Given the description of an element on the screen output the (x, y) to click on. 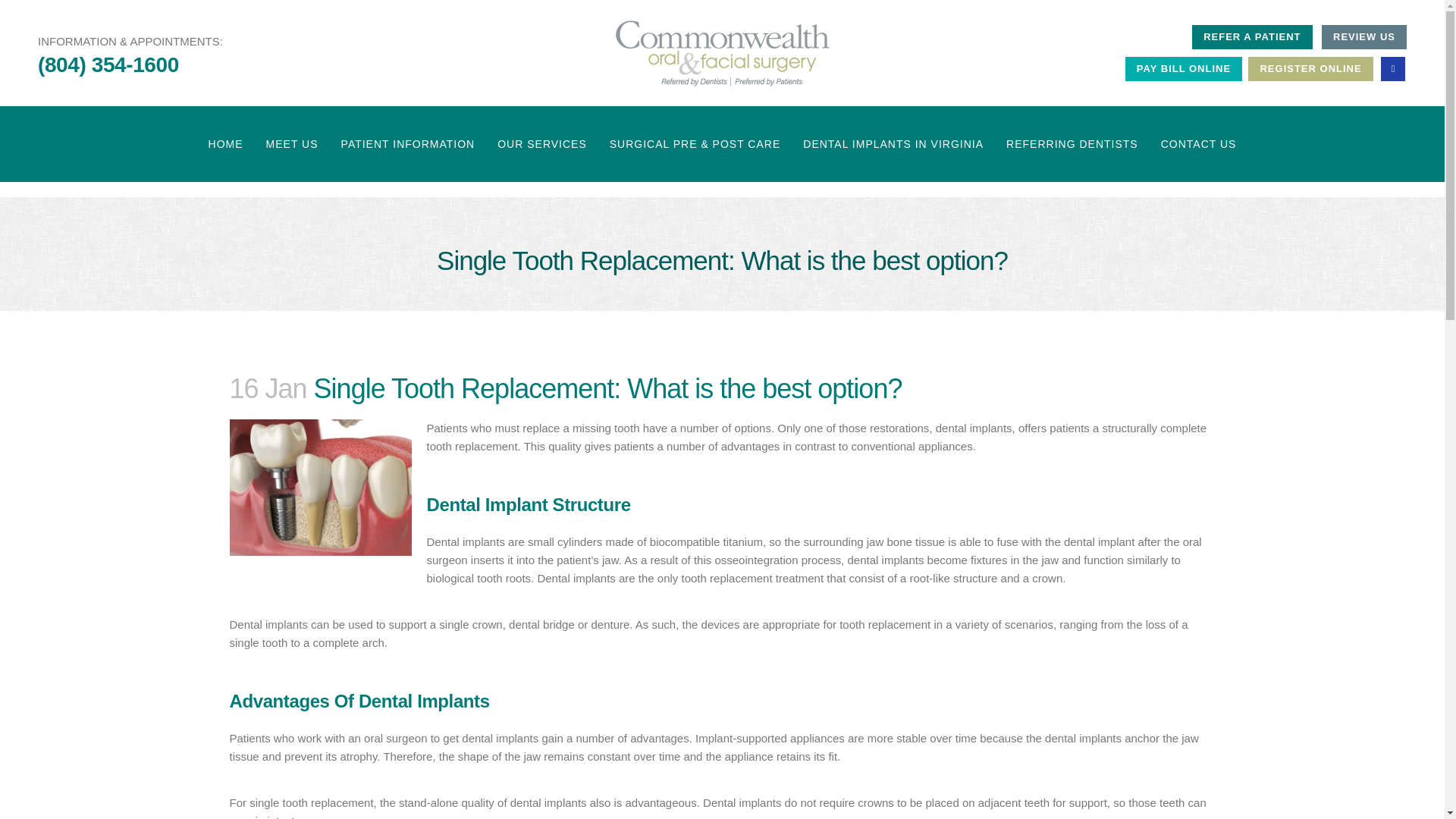
PAY BILL ONLINE (1183, 68)
PATIENT INFORMATION (408, 143)
REGISTER ONLINE (1310, 68)
MEET US (292, 143)
REVIEW US (1364, 37)
HOME (225, 143)
REFER A PATIENT (1251, 37)
